Given the description of an element on the screen output the (x, y) to click on. 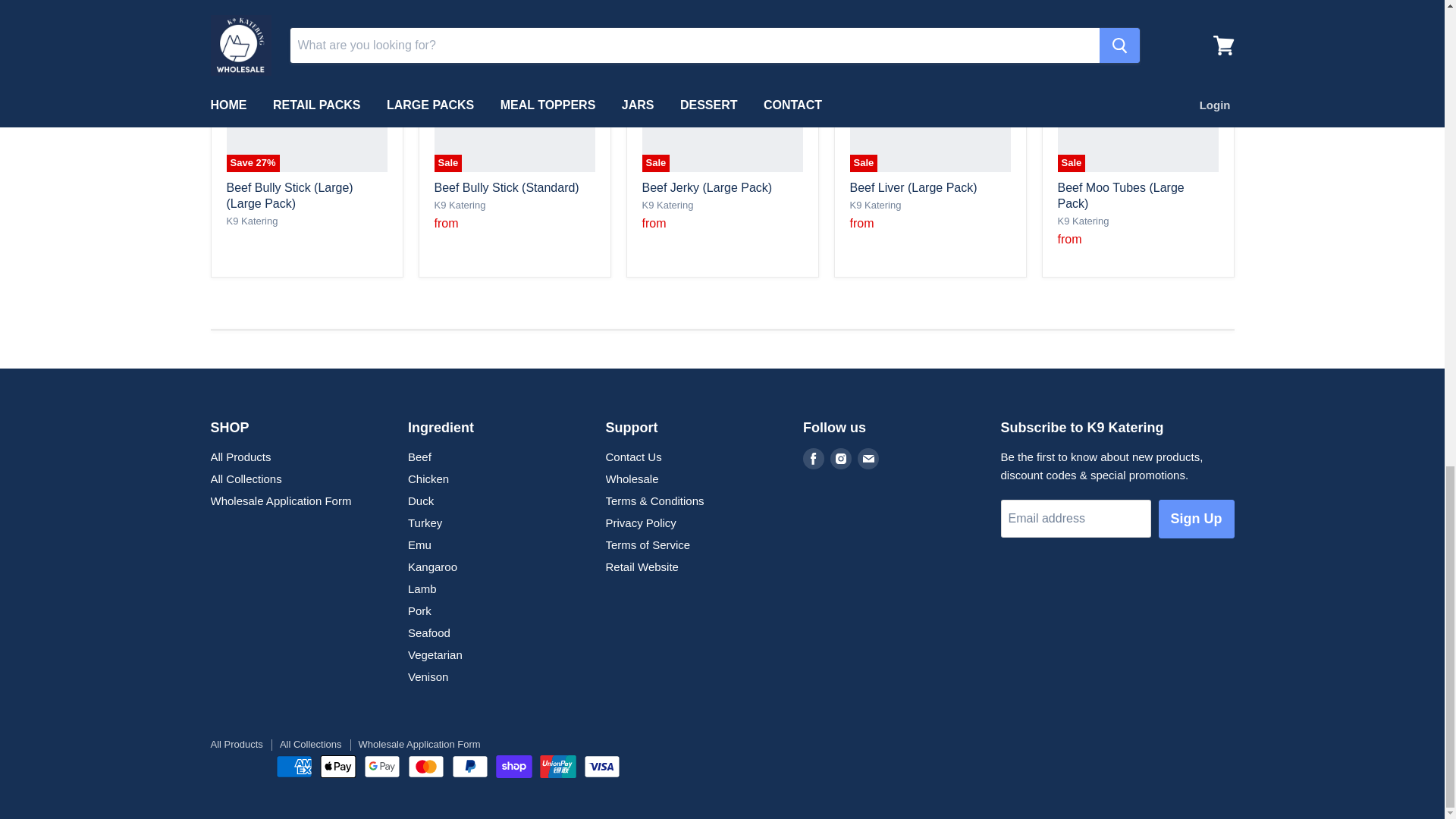
Apple Pay (338, 766)
E-mail (868, 458)
Google Pay (382, 766)
Instagram (840, 458)
Facebook (813, 458)
PayPal (469, 766)
Shop Pay (514, 766)
Union Pay (558, 766)
Visa (601, 766)
Mastercard (425, 766)
